Given the description of an element on the screen output the (x, y) to click on. 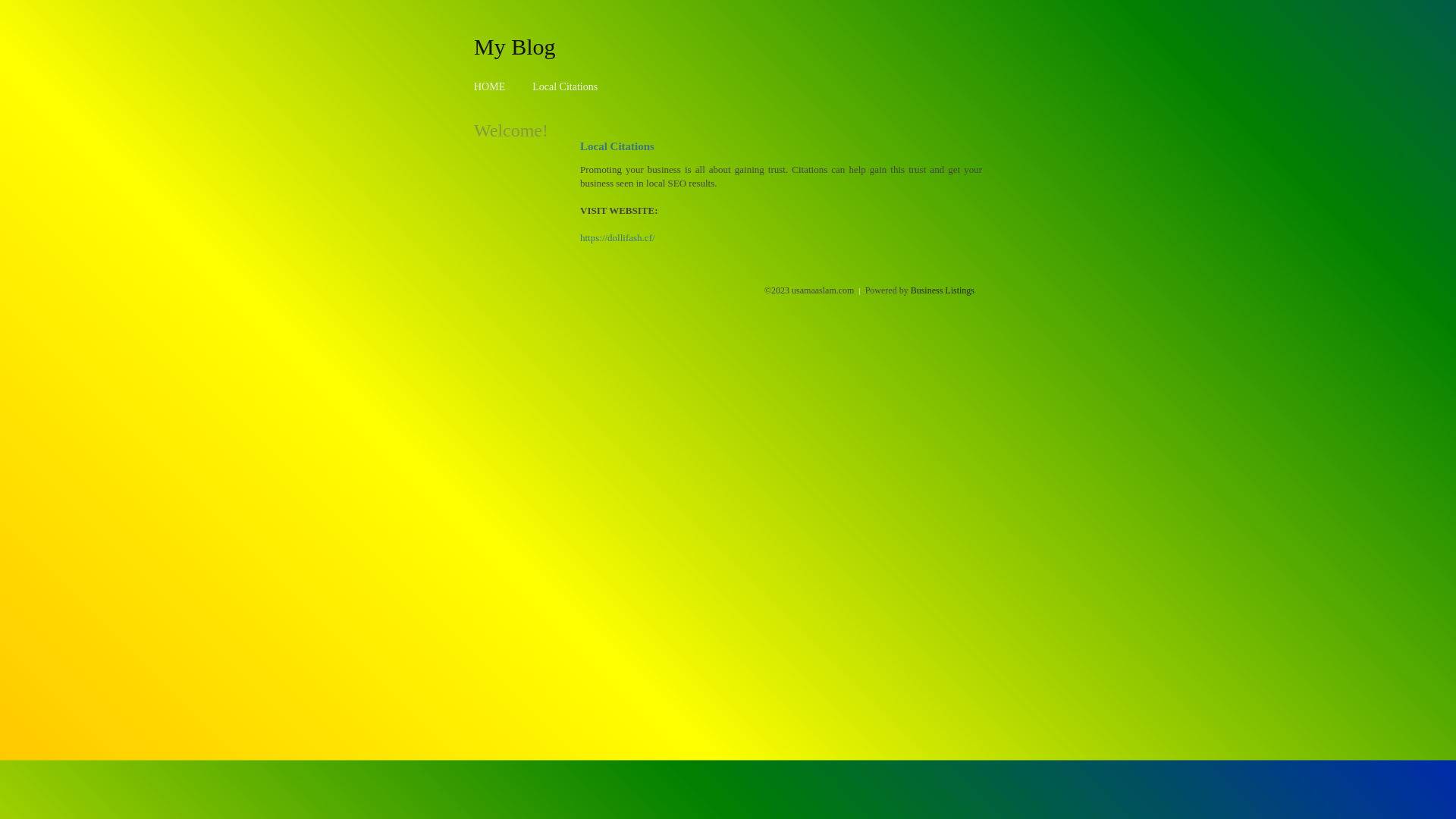
Business Listings Element type: text (942, 290)
My Blog Element type: text (514, 46)
HOME Element type: text (489, 86)
Local Citations Element type: text (564, 86)
https://dollifash.cf/ Element type: text (617, 237)
